Given the description of an element on the screen output the (x, y) to click on. 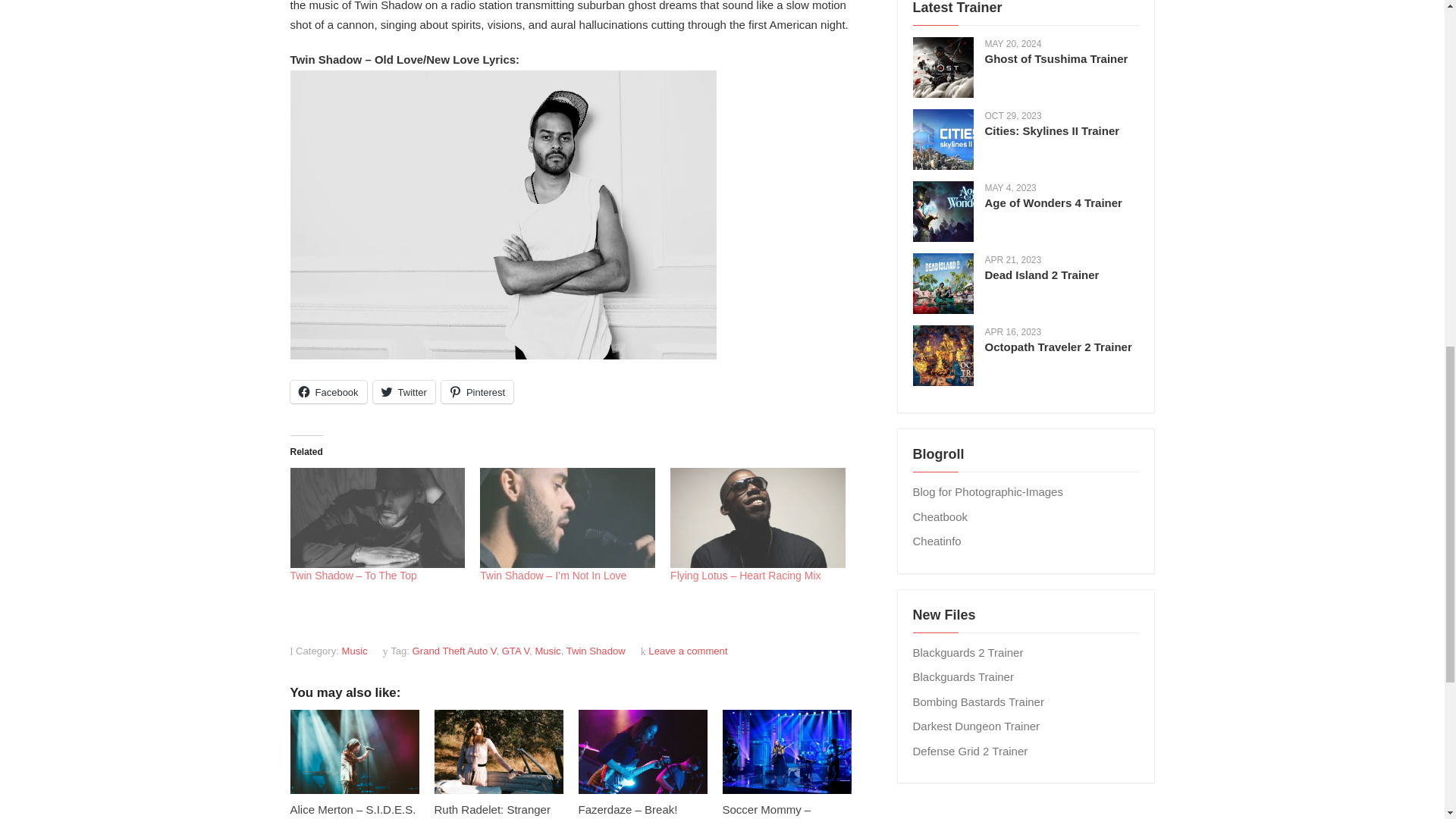
Twin Shadow (596, 650)
Twitter (403, 391)
Music (355, 650)
Leave a comment (686, 650)
Pinterest (477, 391)
Facebook (327, 391)
Click to share on Facebook (327, 391)
GTA V (515, 650)
Click to share on Pinterest (477, 391)
Click to share on Twitter (403, 391)
